Given the description of an element on the screen output the (x, y) to click on. 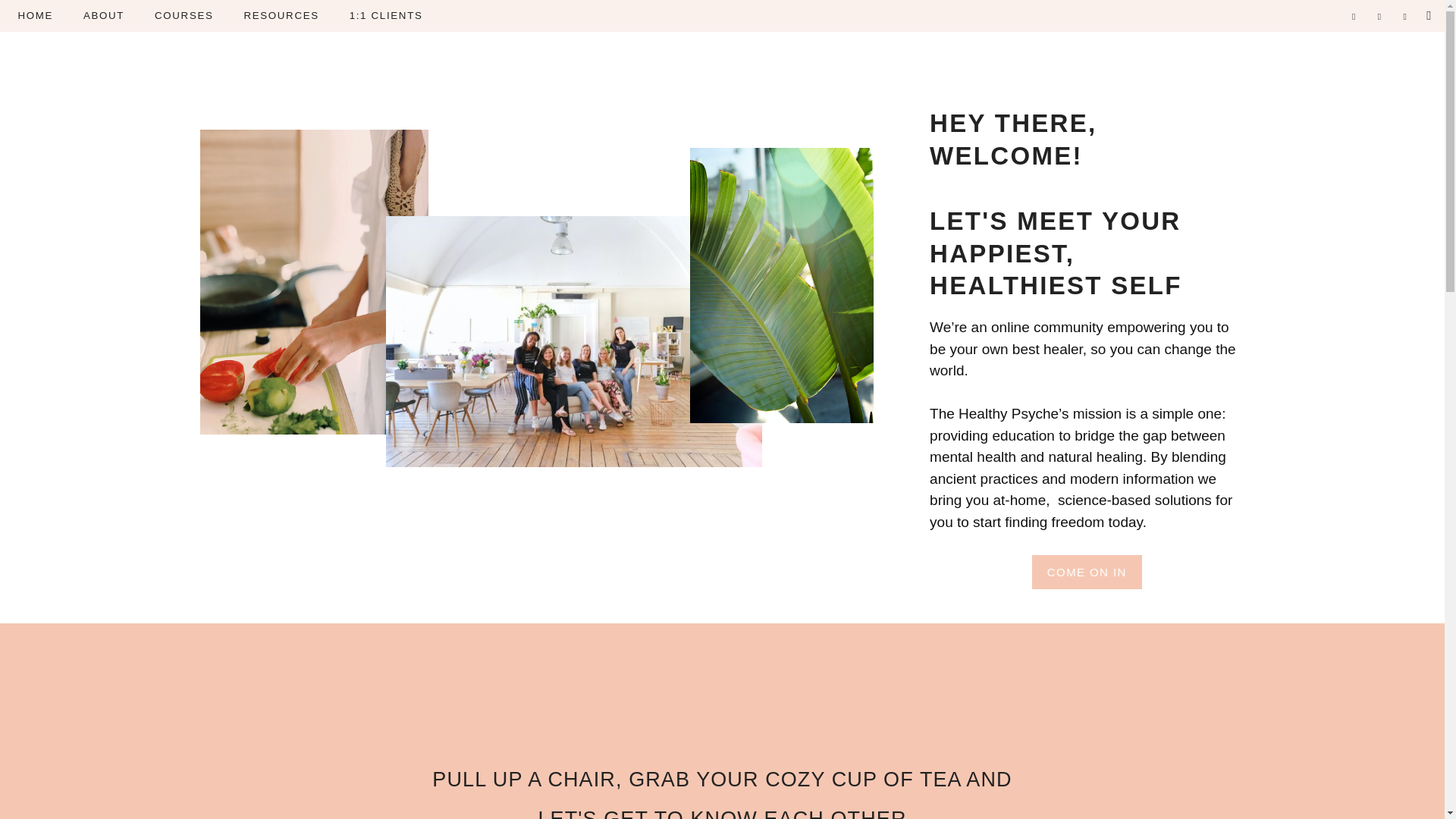
RESOURCES (280, 15)
HOME (34, 15)
COURSES (184, 15)
ABOUT (102, 15)
COME ON IN (1086, 572)
1:1 CLIENTS (386, 15)
